Given the description of an element on the screen output the (x, y) to click on. 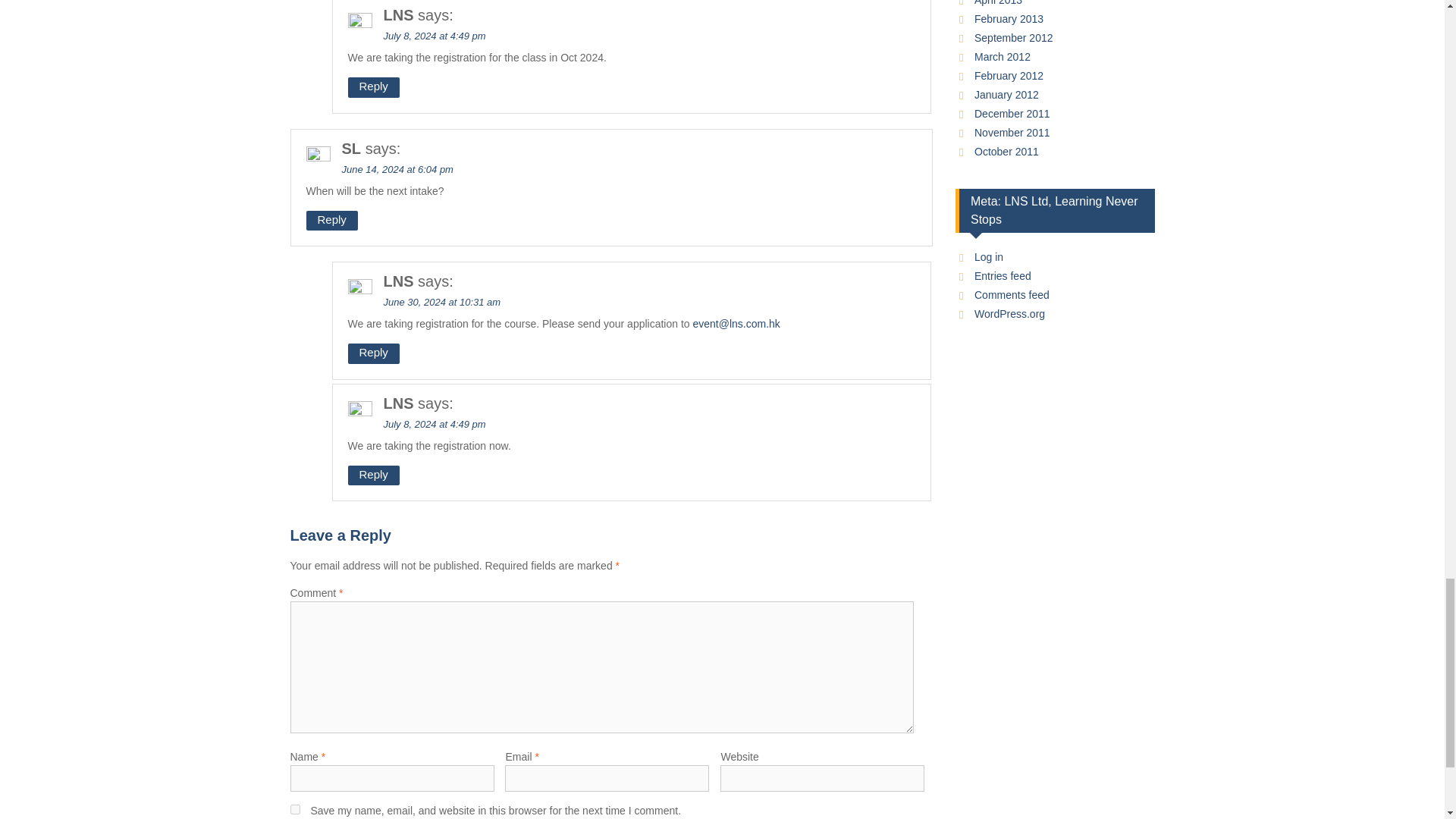
yes (294, 809)
July 8, 2024 at 4:49 pm (435, 35)
